Given the description of an element on the screen output the (x, y) to click on. 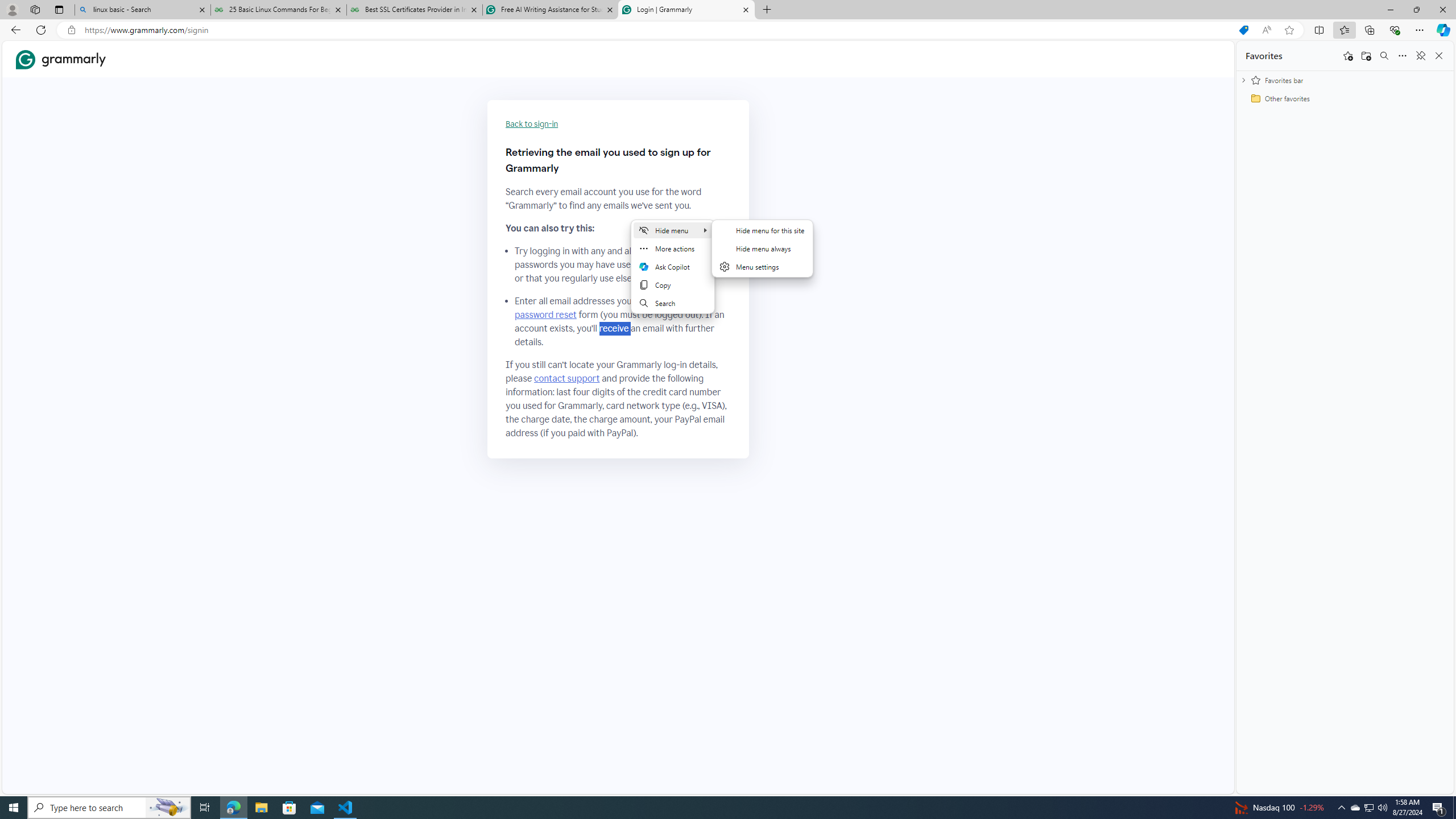
linux basic - Search (142, 9)
Ask Copilot (672, 266)
contact support (566, 378)
Best SSL Certificates Provider in India - GeeksforGeeks (414, 9)
Hide menu always (761, 248)
Close favorites (1439, 55)
Unpin favorites (1420, 55)
Back to sign-in (532, 124)
Grammarly Home (61, 58)
